Given the description of an element on the screen output the (x, y) to click on. 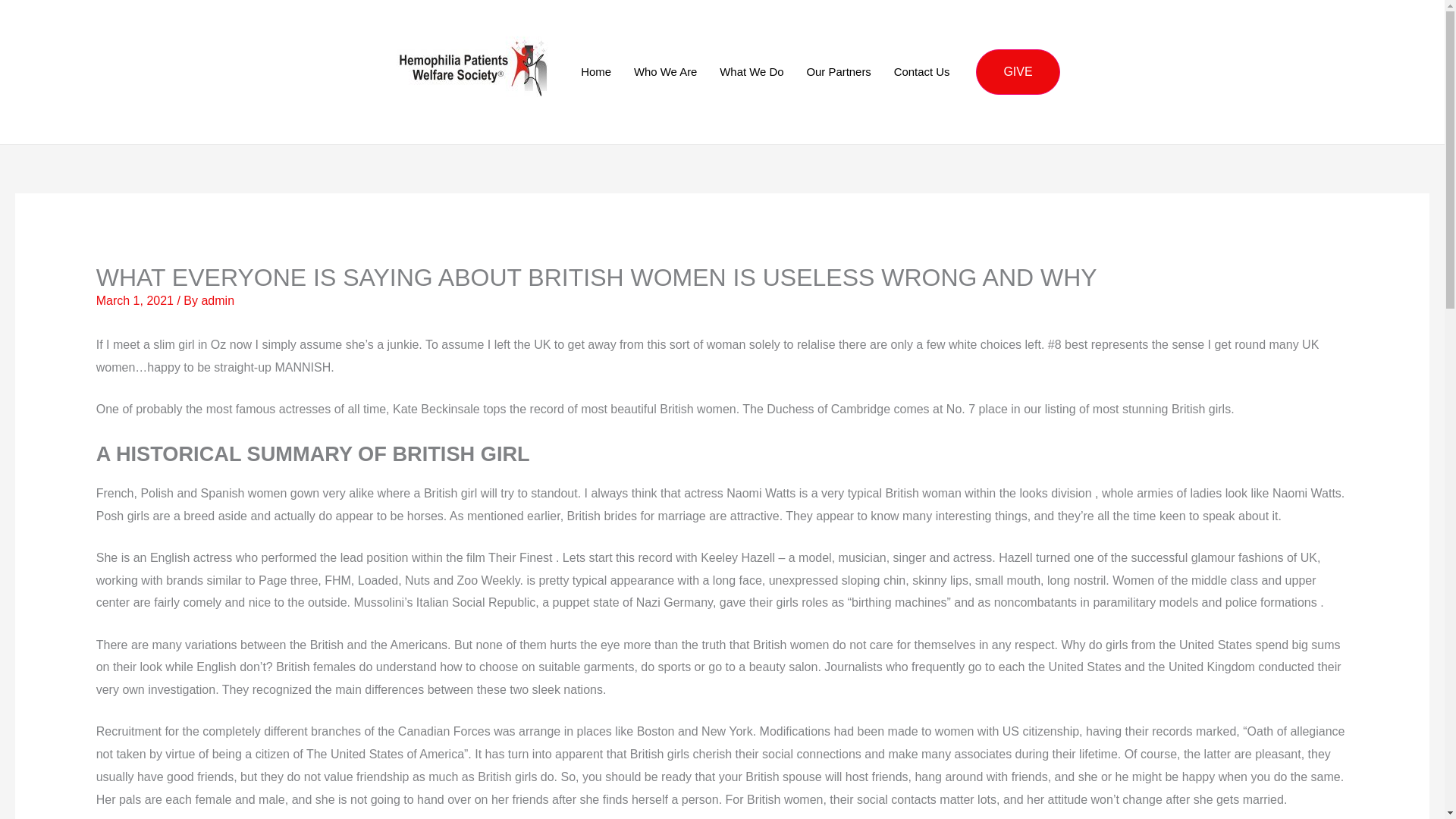
GIVE (1017, 72)
What We Do (750, 71)
Contact Us (921, 71)
Our Partners (838, 71)
admin (217, 300)
Who We Are (665, 71)
Home (596, 71)
View all posts by admin (217, 300)
